Given the description of an element on the screen output the (x, y) to click on. 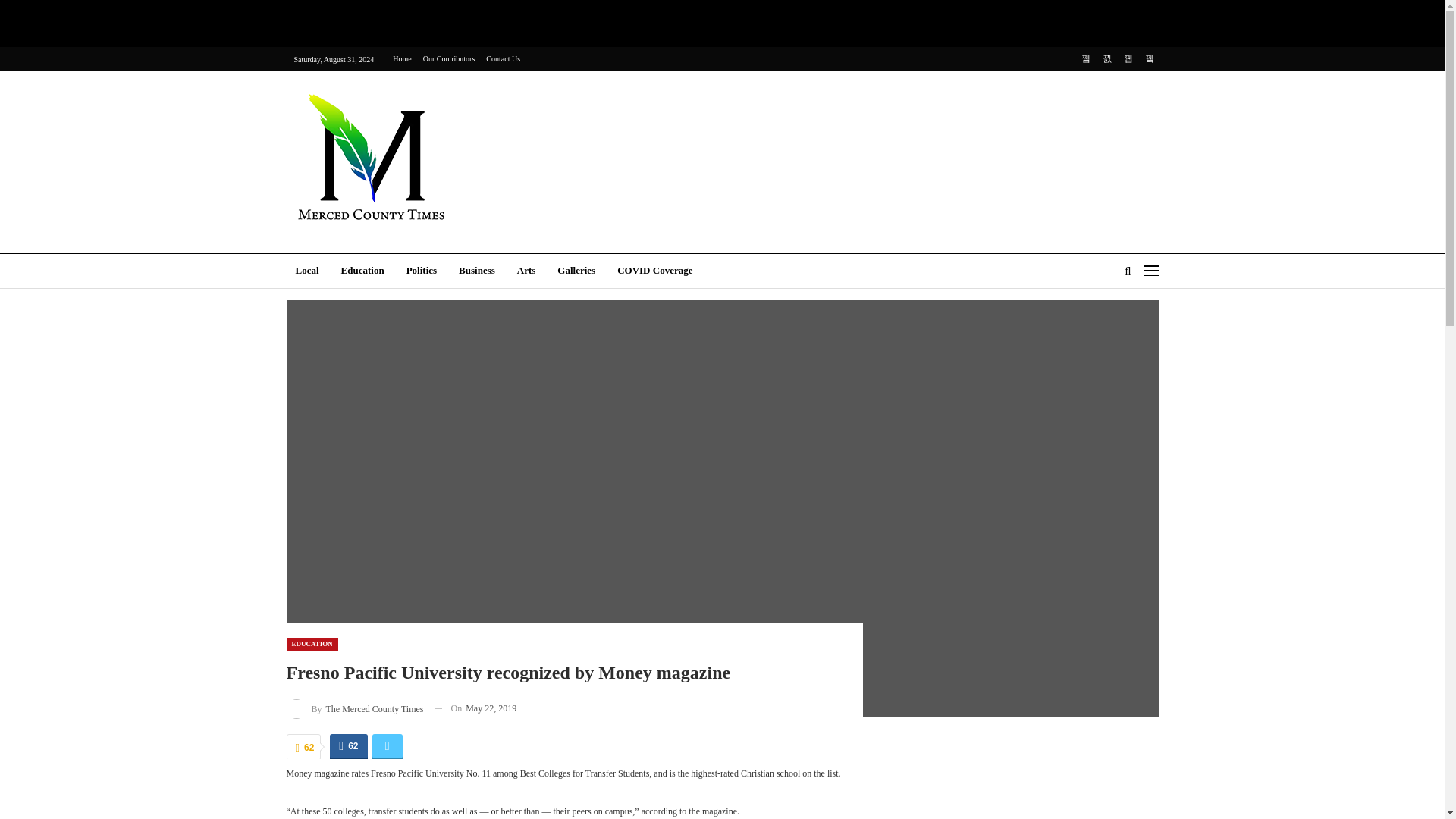
Education (362, 271)
Politics (421, 271)
EDUCATION (311, 644)
Home (401, 58)
Browse Author Articles (354, 708)
Contact Us (502, 58)
By The Merced County Times (354, 708)
Our Contributors (449, 58)
Business (476, 271)
Local (307, 271)
